Given the description of an element on the screen output the (x, y) to click on. 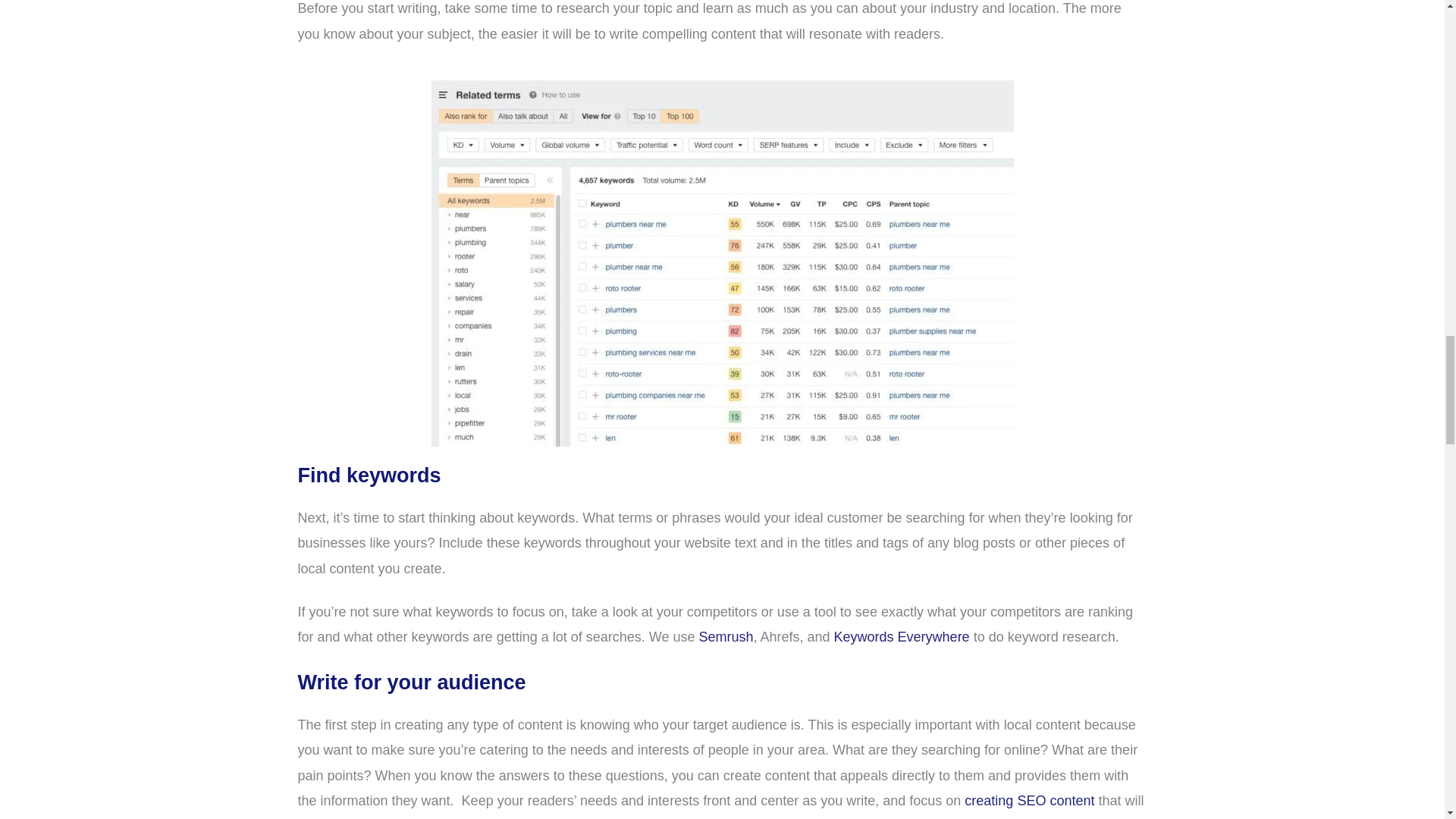
SEMRush (725, 636)
Keywords Everywhere (901, 636)
